Given the description of an element on the screen output the (x, y) to click on. 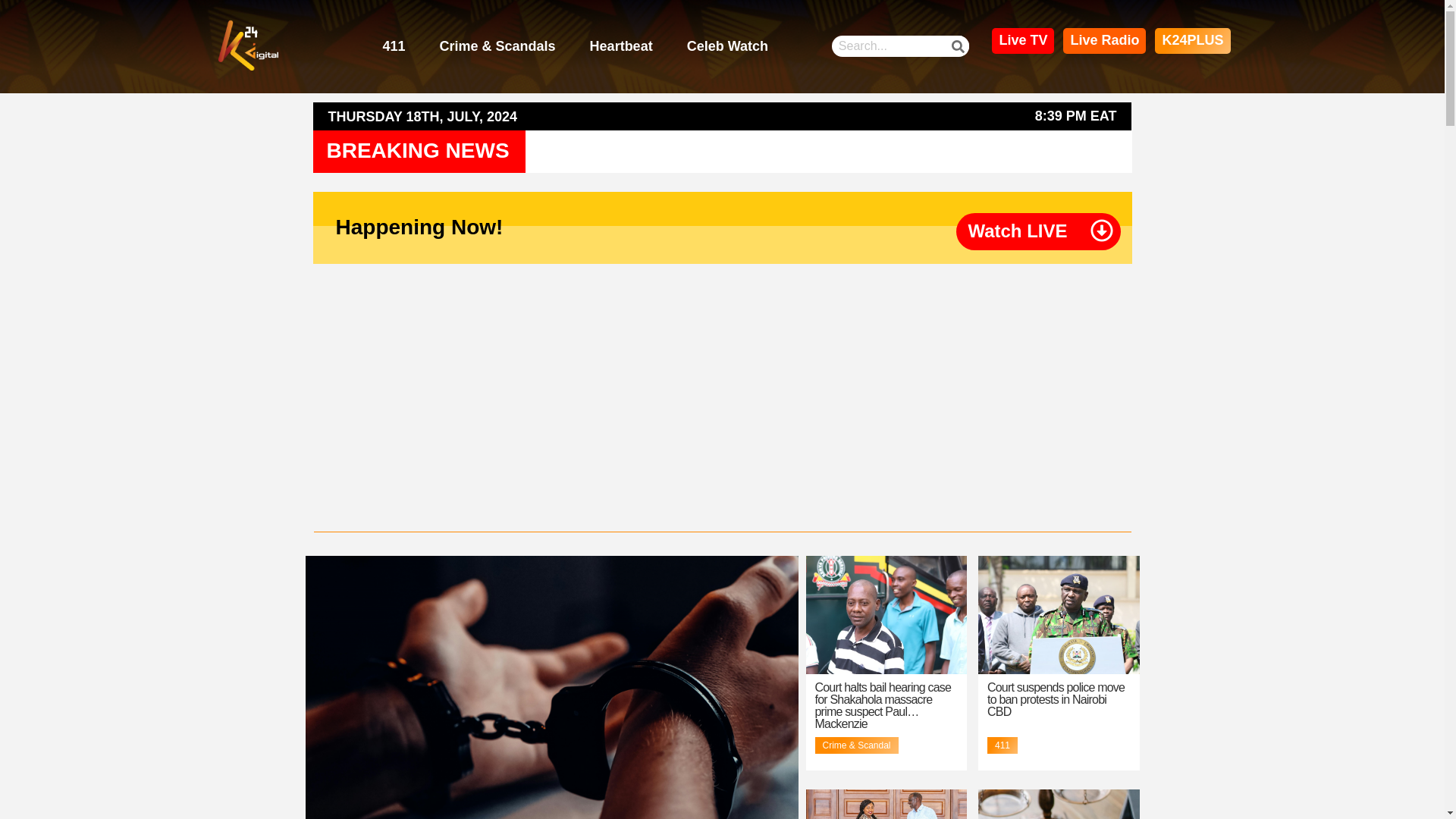
Live Radio (1103, 40)
Court suspends police move to ban protests in Nairobi CBD (1055, 699)
K24PLUS (1192, 40)
Celeb Watch (727, 46)
Live TV (1022, 40)
Watch LIVE (1017, 230)
